Given the description of an element on the screen output the (x, y) to click on. 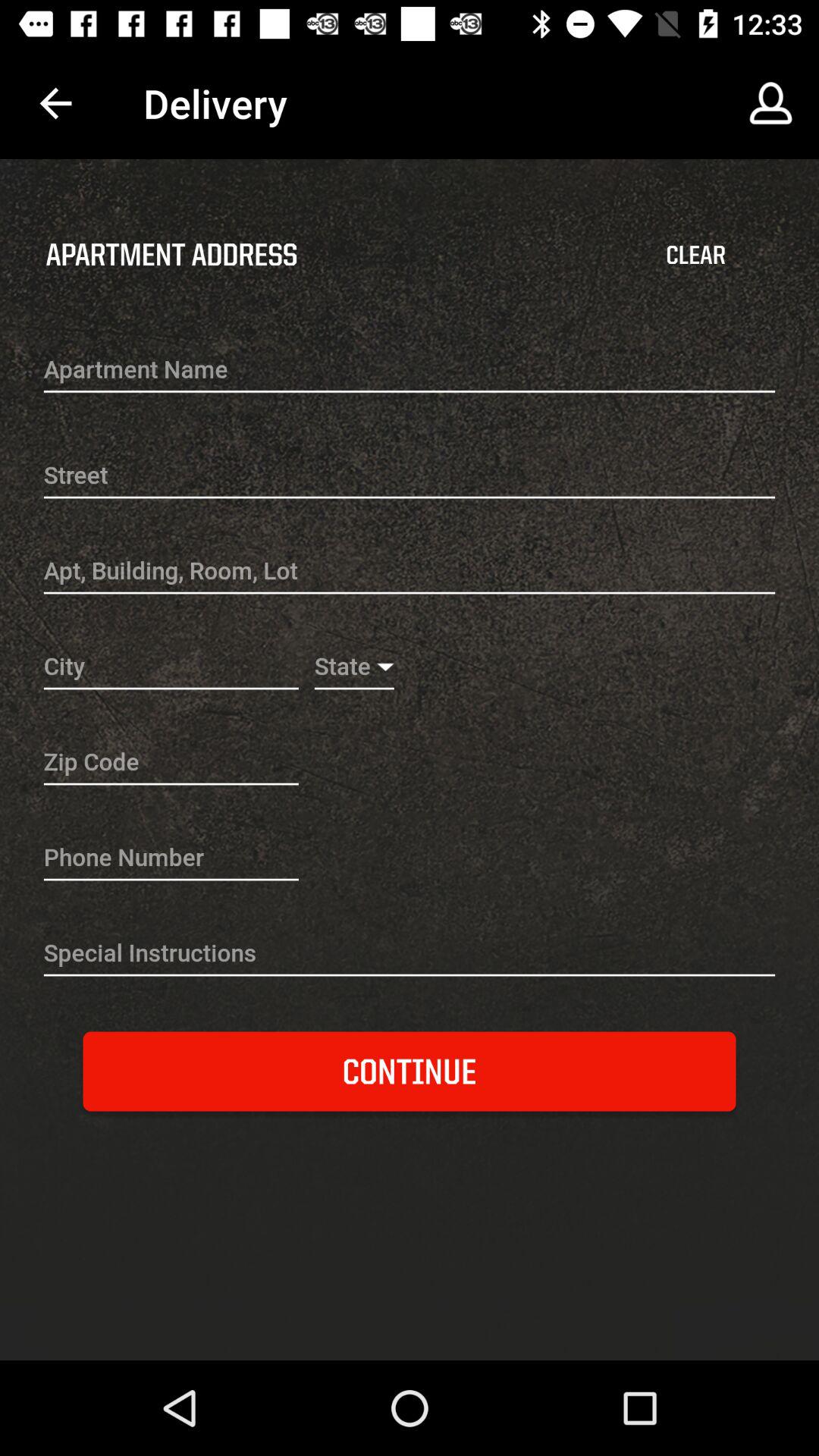
scroll until the continue (409, 1071)
